Given the description of an element on the screen output the (x, y) to click on. 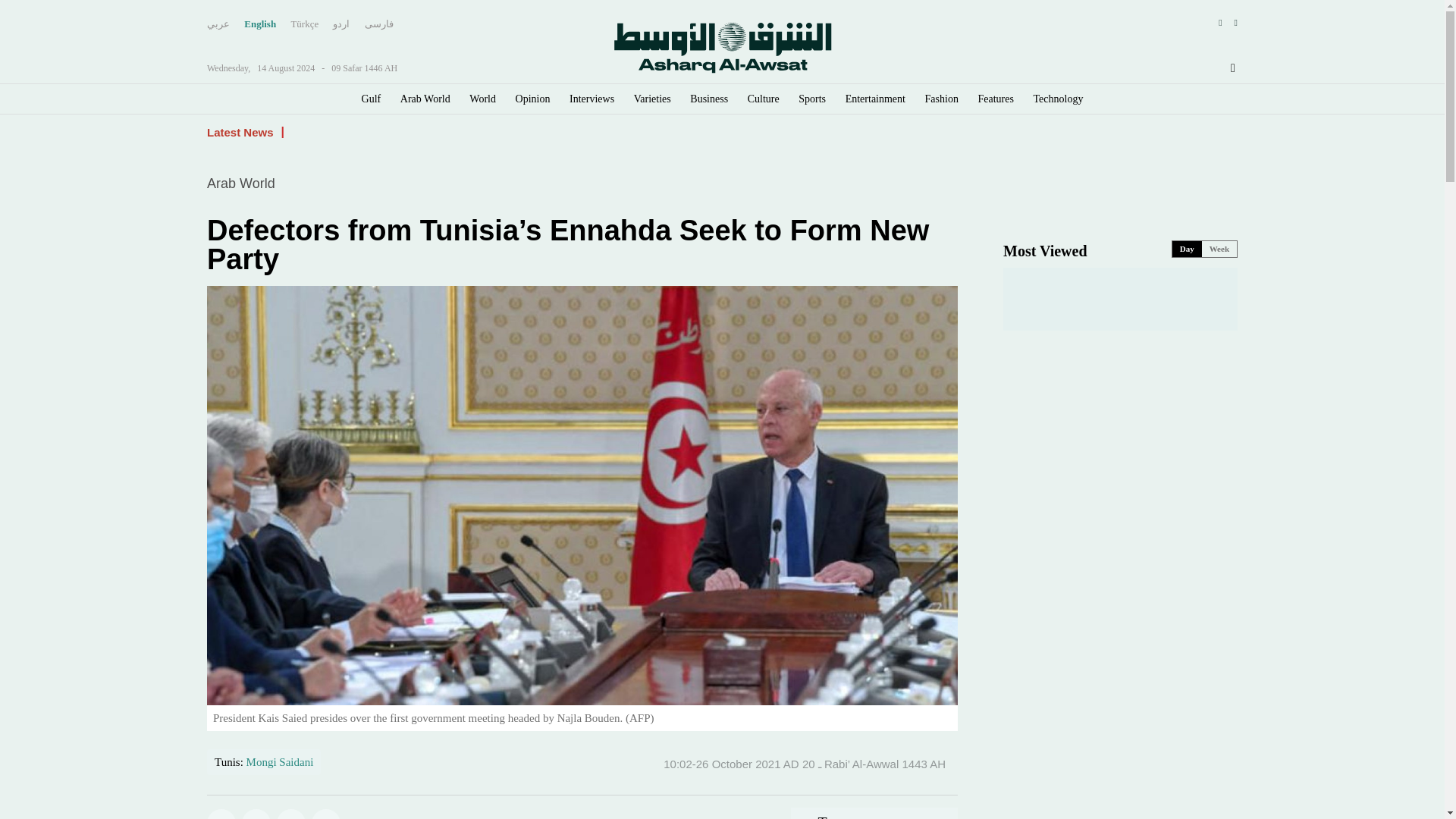
Interviews (591, 99)
Culture (763, 99)
Arab World (424, 99)
Varieties (652, 99)
Technology (1058, 99)
Features (995, 99)
English (260, 24)
Entertainment (875, 99)
Opinion (532, 99)
Business (709, 99)
